Given the description of an element on the screen output the (x, y) to click on. 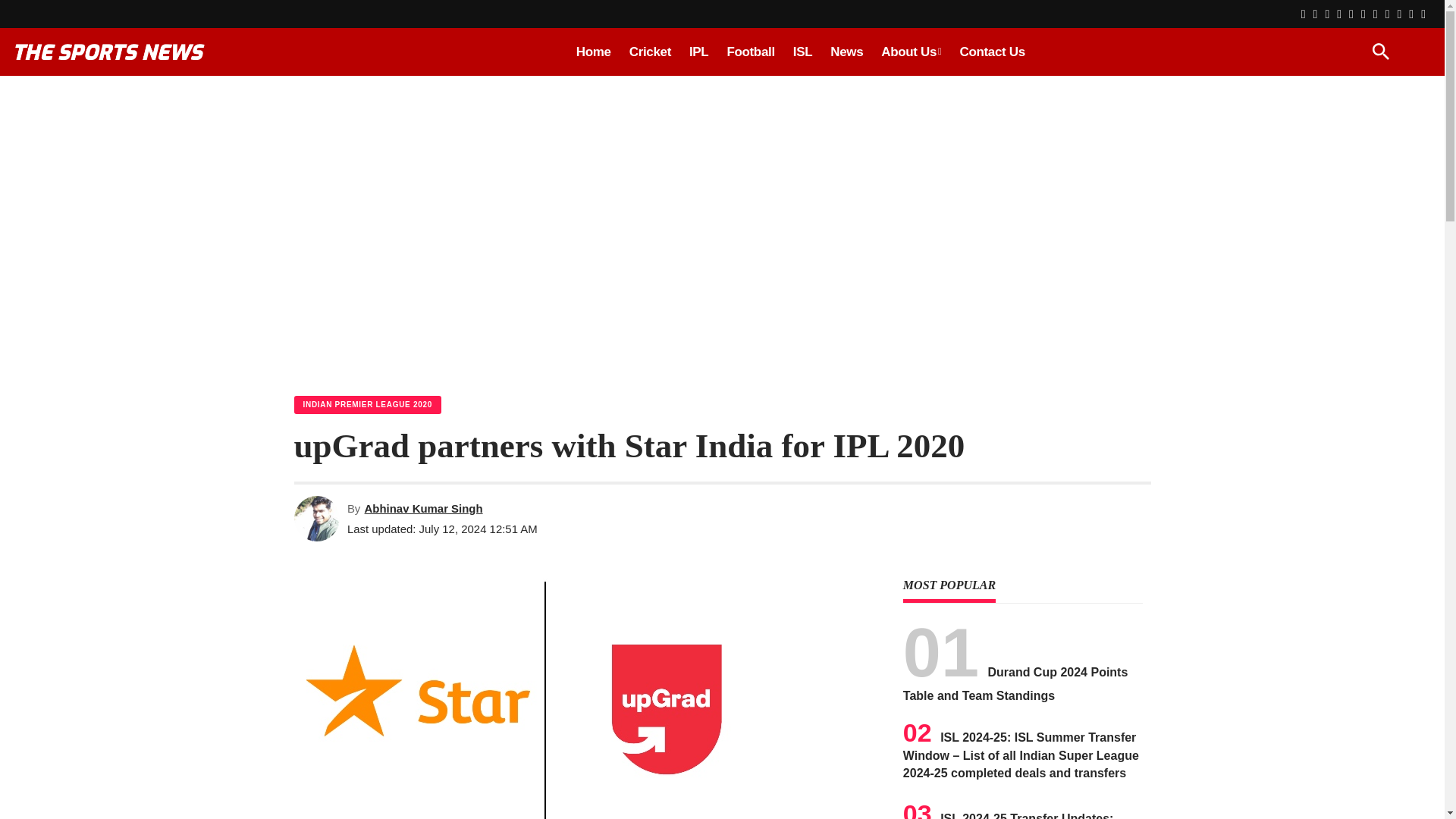
Contact Us (991, 51)
About Us (911, 51)
News (846, 51)
Cricket (649, 51)
Home (593, 51)
Football (750, 51)
